Given the description of an element on the screen output the (x, y) to click on. 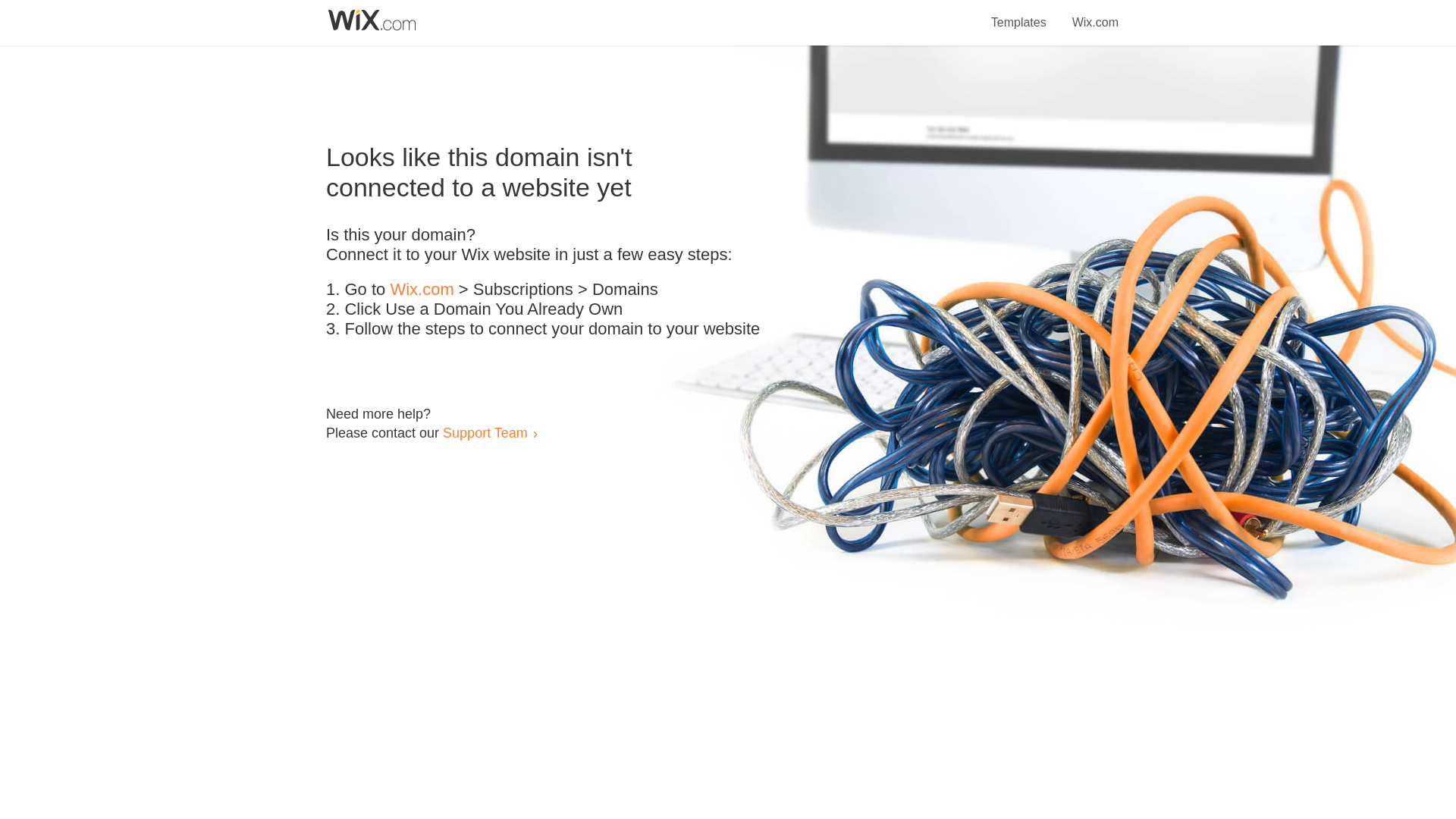
Wix.com (421, 289)
Support Team (484, 432)
Wix.com (1095, 14)
Templates (1018, 14)
